Given the description of an element on the screen output the (x, y) to click on. 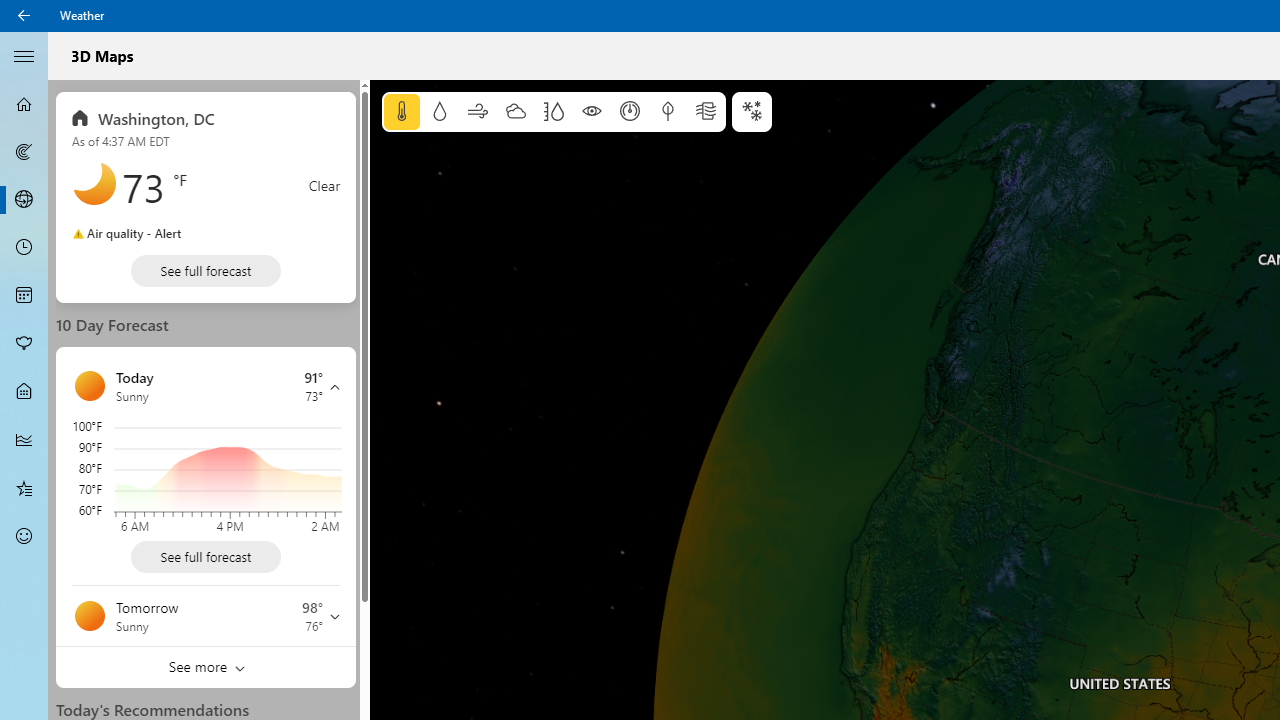
Maps - Not Selected (24, 151)
Collapse Navigation (24, 55)
Send Feedback - Not Selected (24, 535)
Favorites - Not Selected (24, 487)
Forecast - Not Selected (24, 103)
3D Maps - Not Selected (24, 199)
Monthly Forecast - Not Selected (24, 295)
Back (24, 15)
Forecast - Not Selected (24, 103)
Life - Not Selected (24, 391)
Send Feedback - Not Selected (24, 535)
Historical Weather - Not Selected (24, 439)
Hourly Forecast - Not Selected (24, 247)
Historical Weather - Not Selected (24, 439)
Favorites - Not Selected (24, 487)
